Given the description of an element on the screen output the (x, y) to click on. 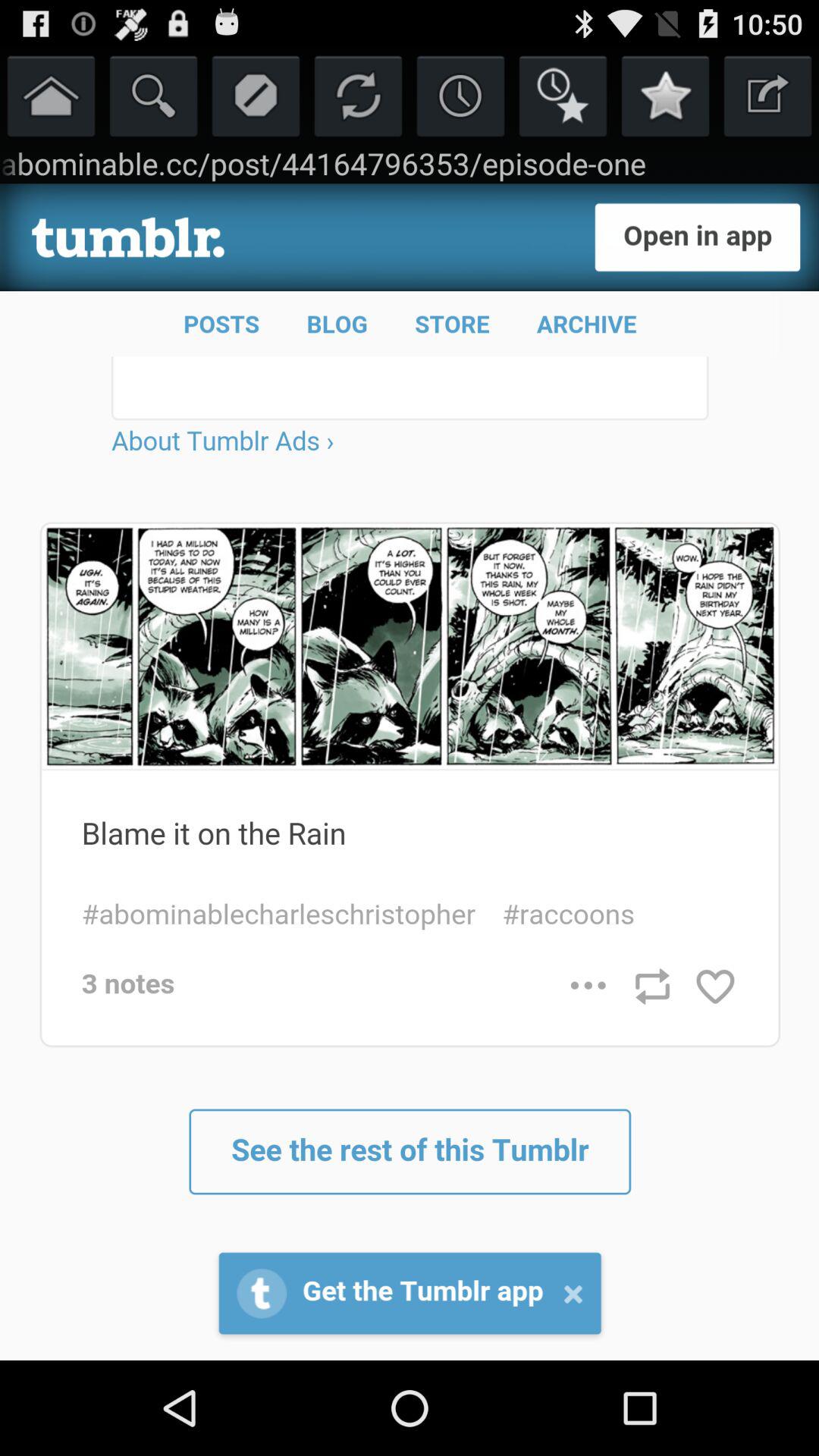
view history (460, 95)
